Given the description of an element on the screen output the (x, y) to click on. 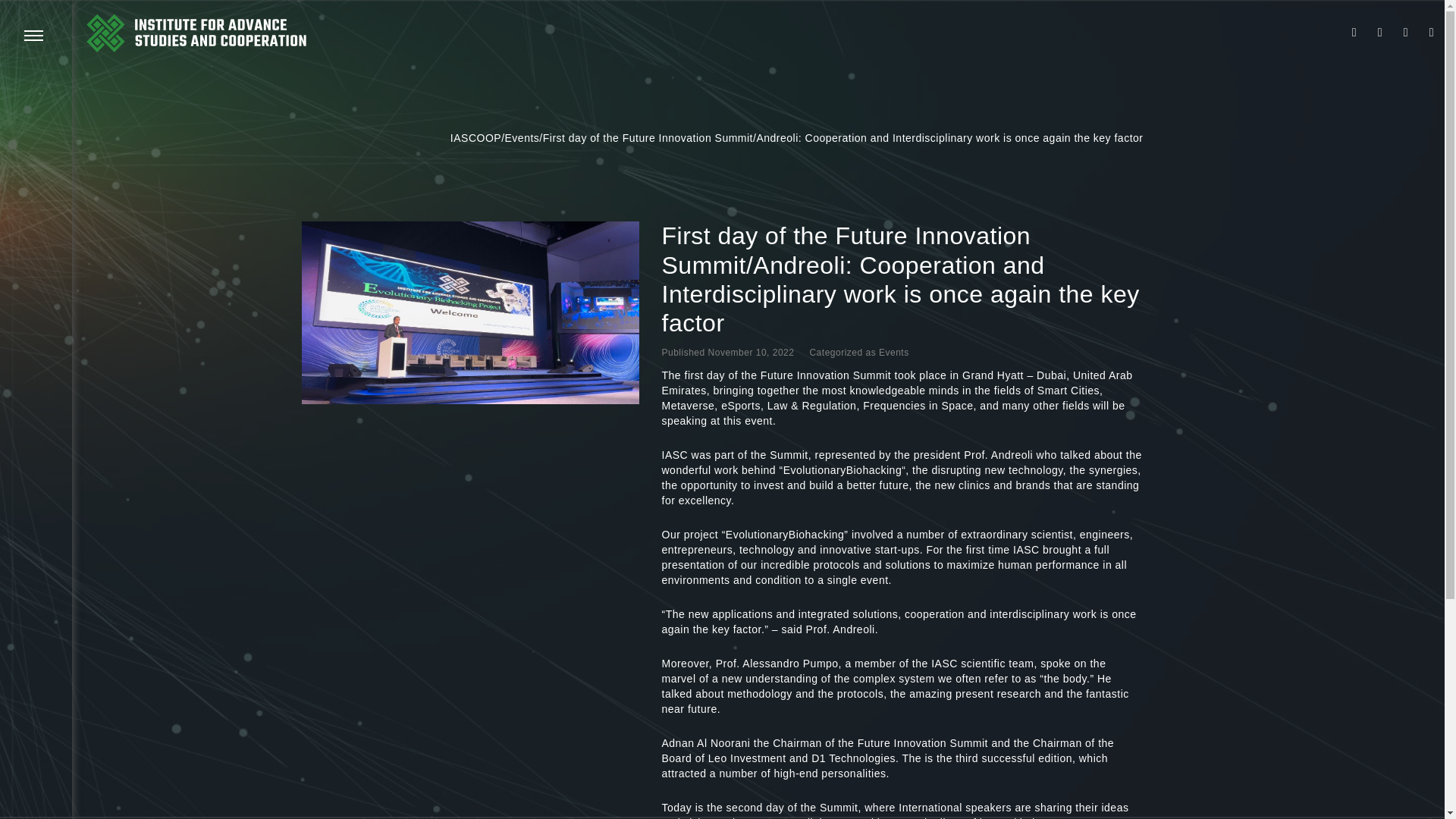
Go to IASCOOP. (474, 137)
Events (522, 137)
Go to the Events Category archives. (522, 137)
Events (893, 352)
IASCOOP (474, 137)
